Given the description of an element on the screen output the (x, y) to click on. 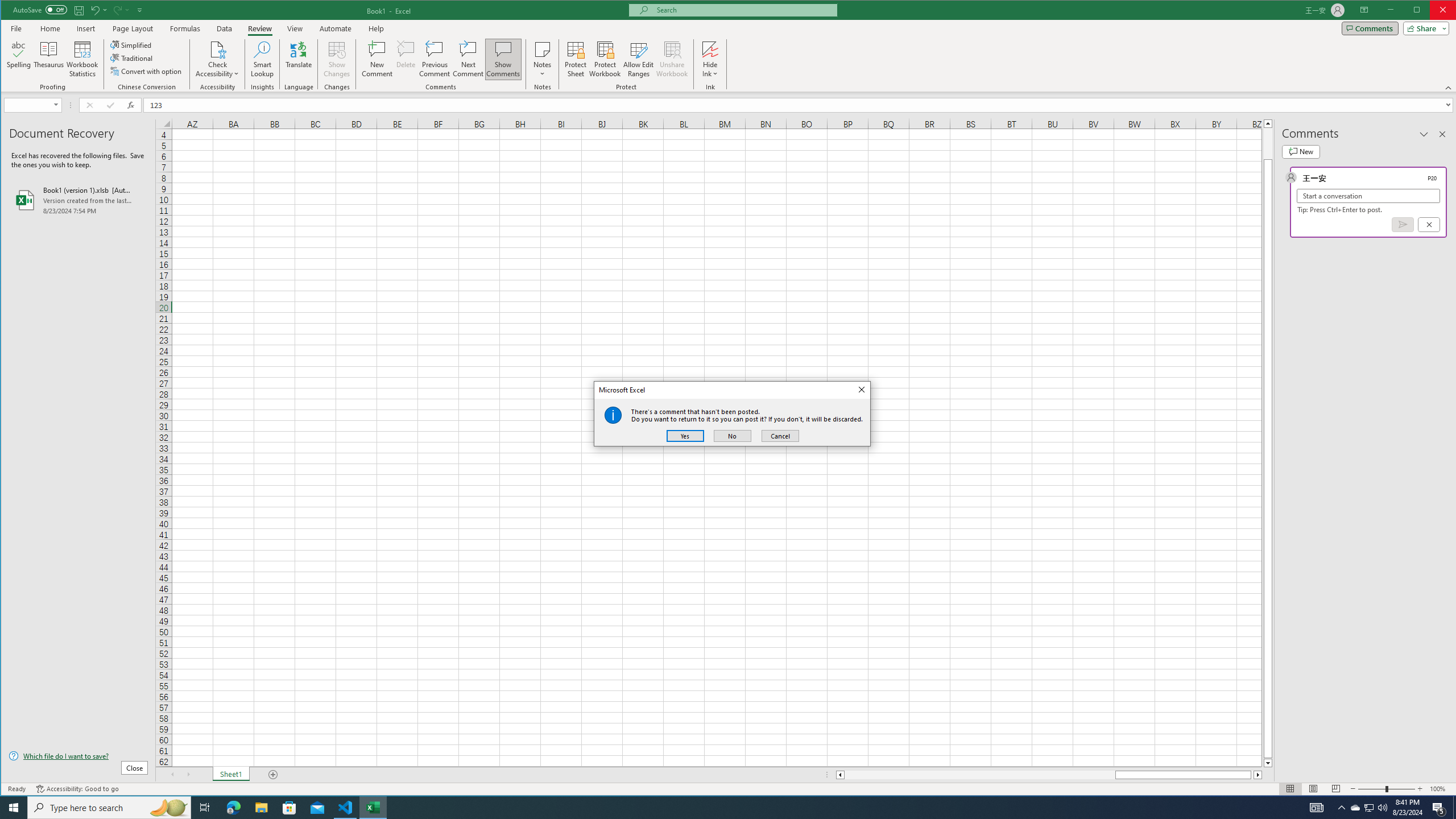
Insert (85, 28)
Hide Ink (710, 59)
Comments (1369, 28)
More Options (710, 69)
Which file do I want to save? (78, 755)
New comment (1300, 151)
Task Pane Options (1423, 133)
Customize Quick Access Toolbar (140, 9)
User Promoted Notification Area (1368, 807)
Scroll Right (188, 774)
Close pane (1355, 807)
Class: NetUIScrollBar (1441, 133)
Check Accessibility (1048, 774)
Normal (217, 59)
